Given the description of an element on the screen output the (x, y) to click on. 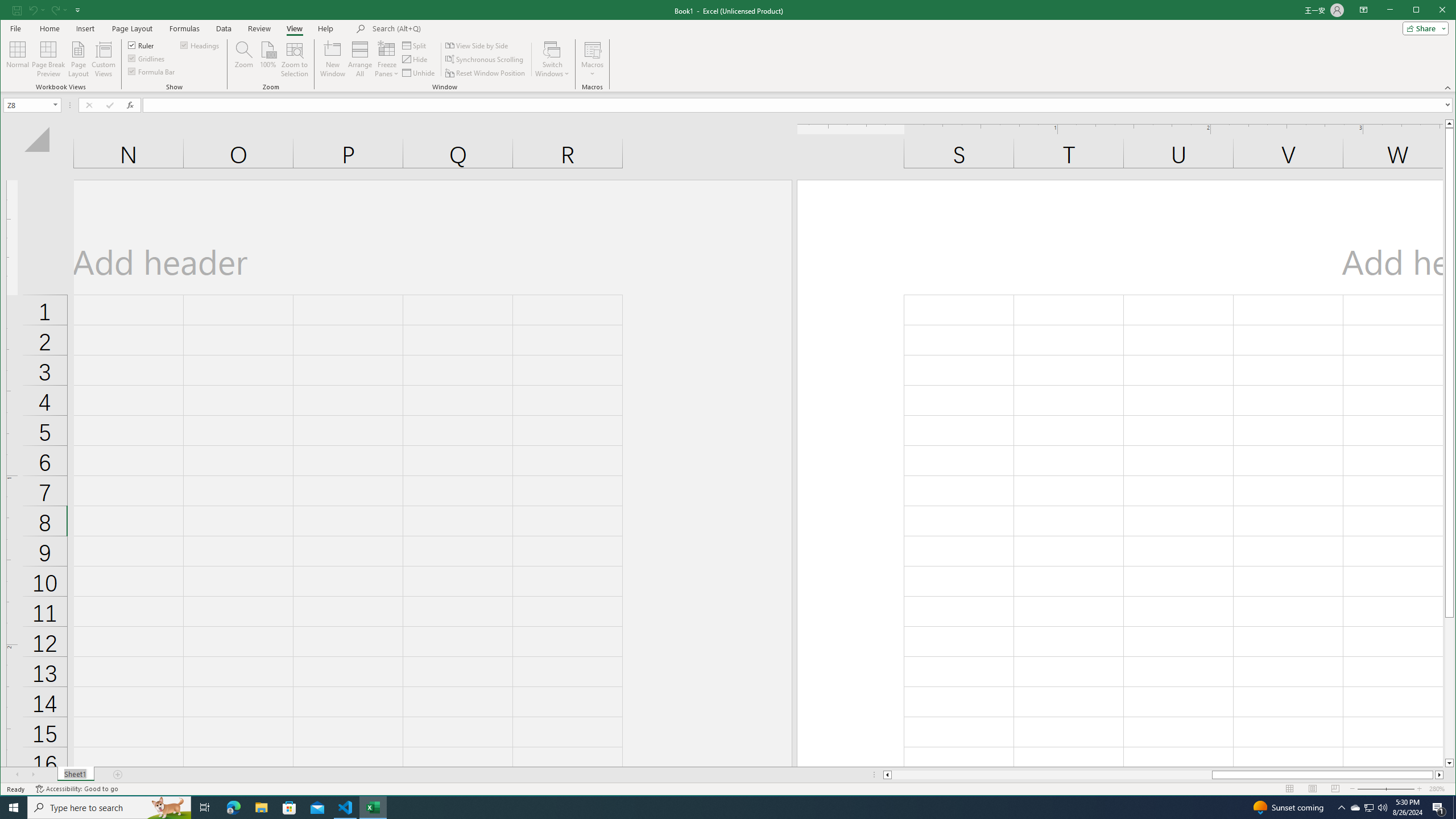
Switch Windows (552, 59)
Gridlines (147, 57)
Custom Views... (103, 59)
